Given the description of an element on the screen output the (x, y) to click on. 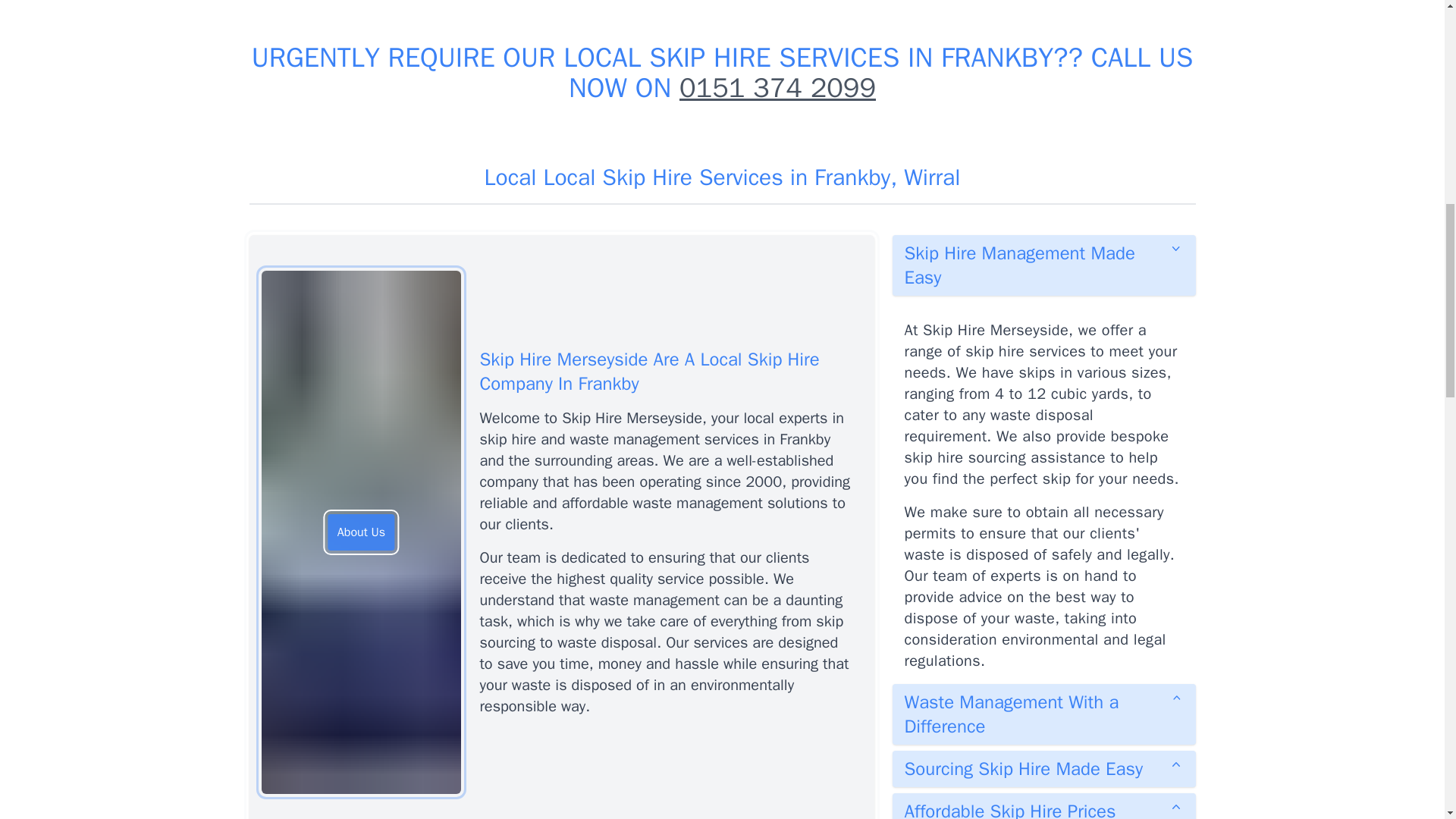
About Us (361, 532)
Sourcing Skip Hire Made Easy (1043, 769)
Waste Management With a Difference (1043, 713)
0151 374 2099 (777, 87)
Affordable Skip Hire Prices (1043, 806)
Skip Hire Management Made Easy (1043, 265)
